Given the description of an element on the screen output the (x, y) to click on. 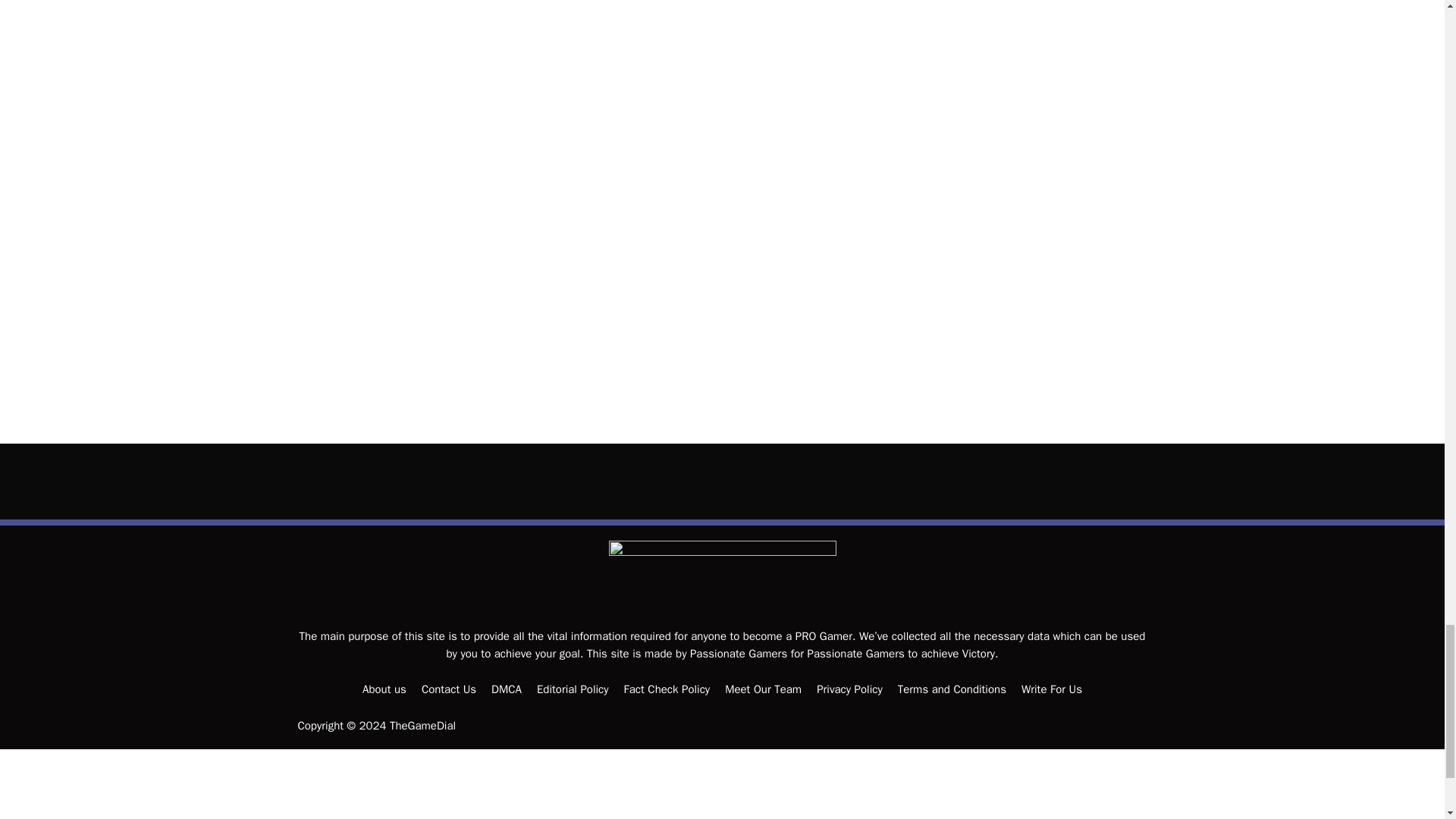
About us (384, 689)
